Given the description of an element on the screen output the (x, y) to click on. 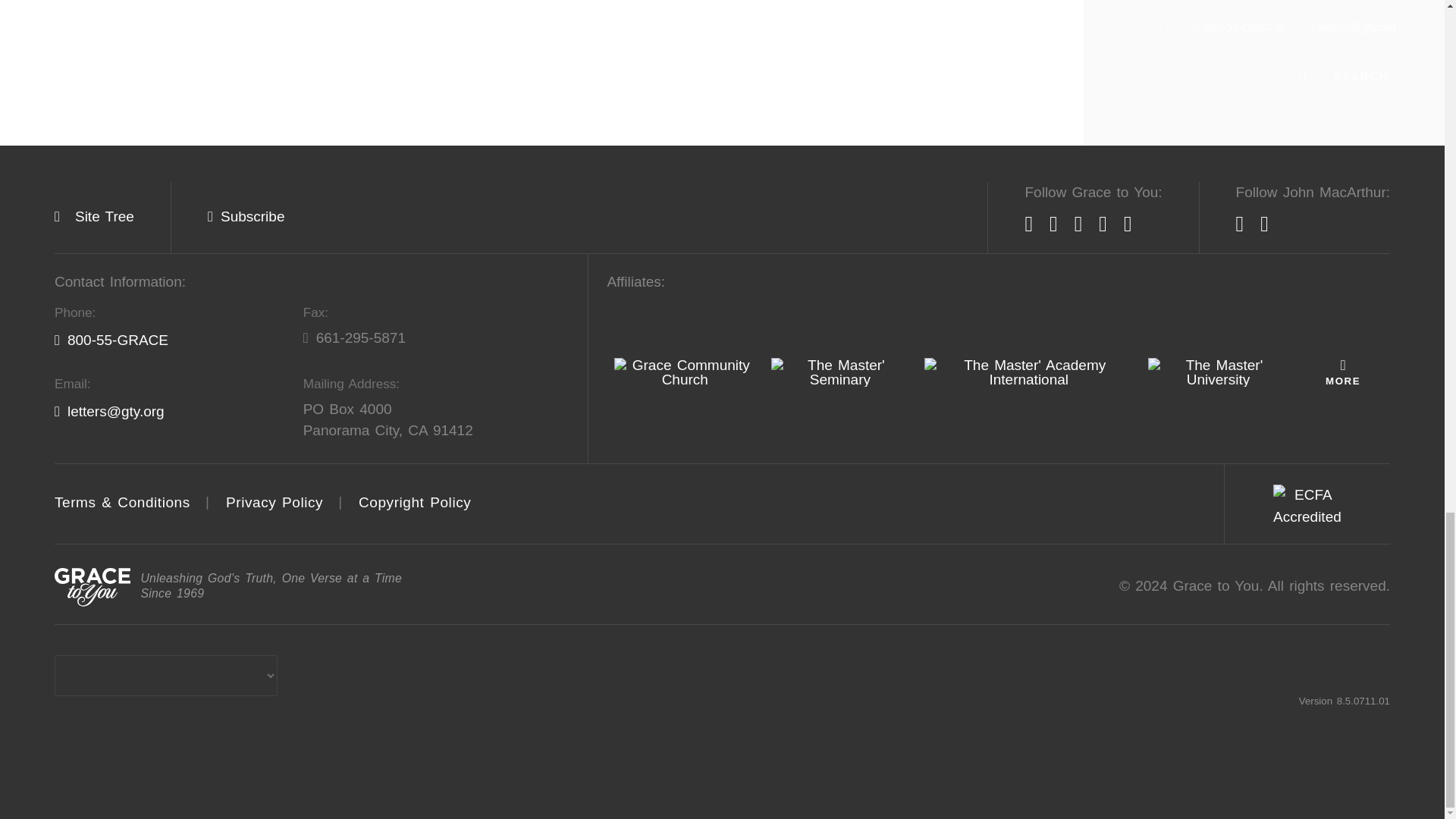
More Affiliates (1341, 371)
The Master' University (1218, 371)
The Master' Seminary (839, 371)
Grace-to-You (93, 587)
The Master' Academy International (1028, 371)
Grace Community Church (684, 371)
